Given the description of an element on the screen output the (x, y) to click on. 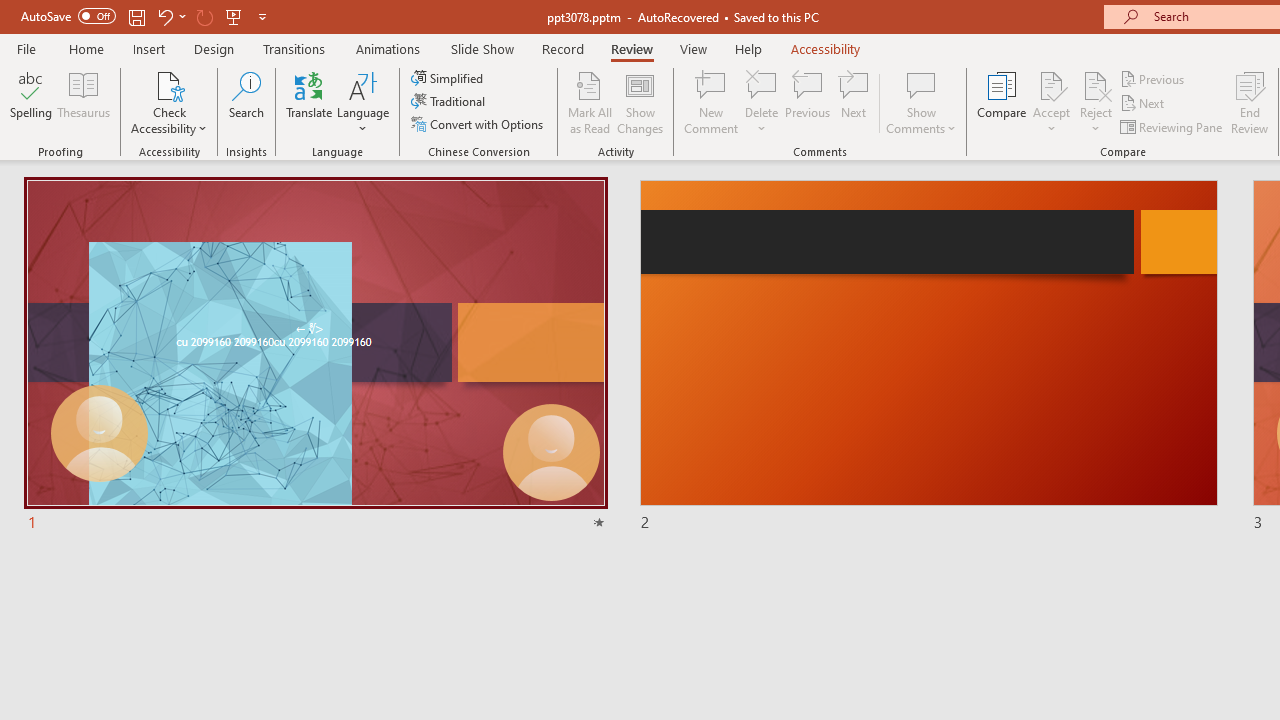
Slide (928, 356)
Show Comments (921, 102)
Quick Access Toolbar (145, 16)
Delete (762, 84)
Save (136, 15)
Translate (309, 102)
